Given the description of an element on the screen output the (x, y) to click on. 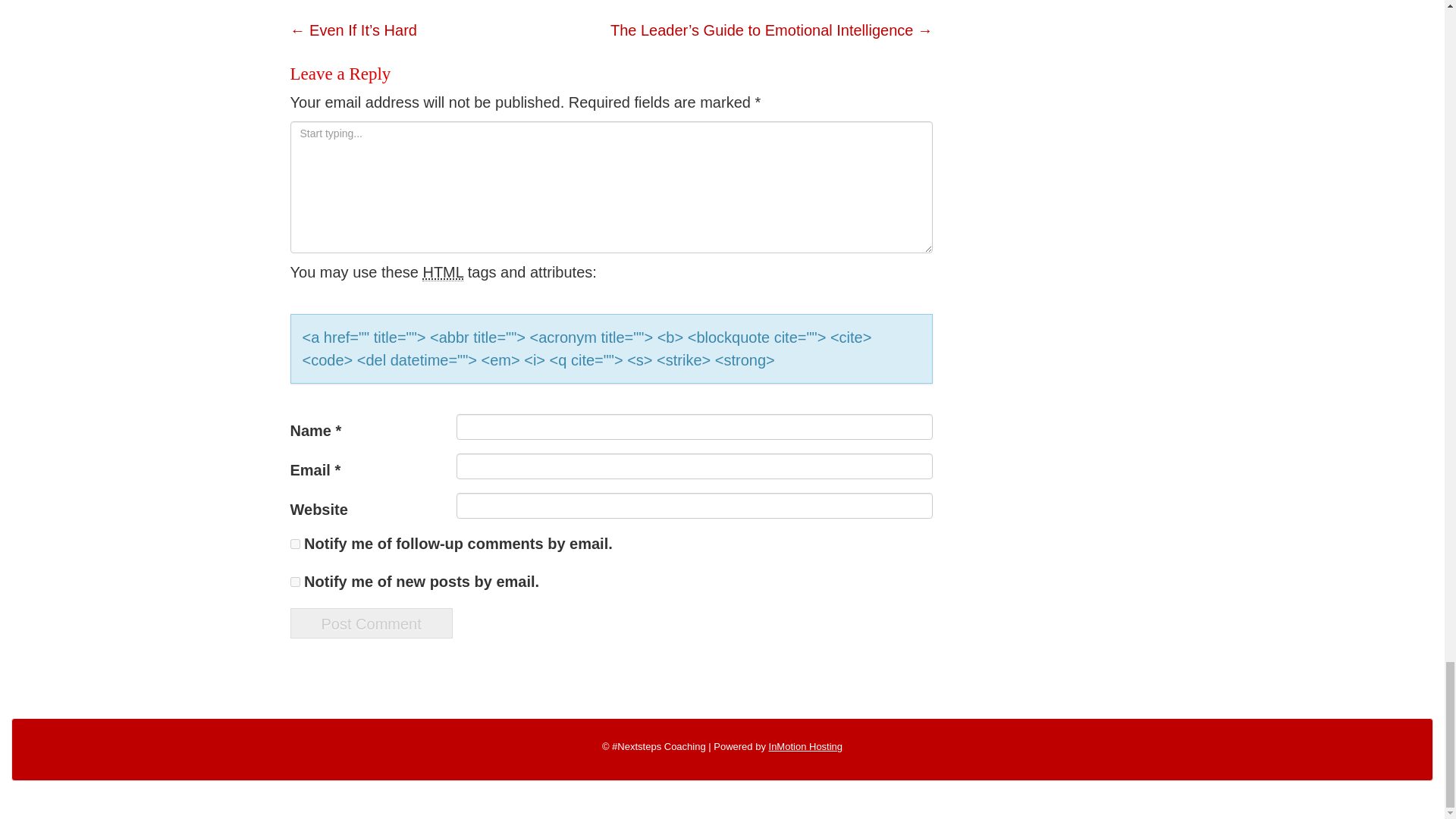
Post Comment (370, 623)
HyperText Markup Language (442, 272)
subscribe (294, 582)
subscribe (294, 543)
Post Comment (370, 623)
InMotion Hosting (805, 746)
